Given the description of an element on the screen output the (x, y) to click on. 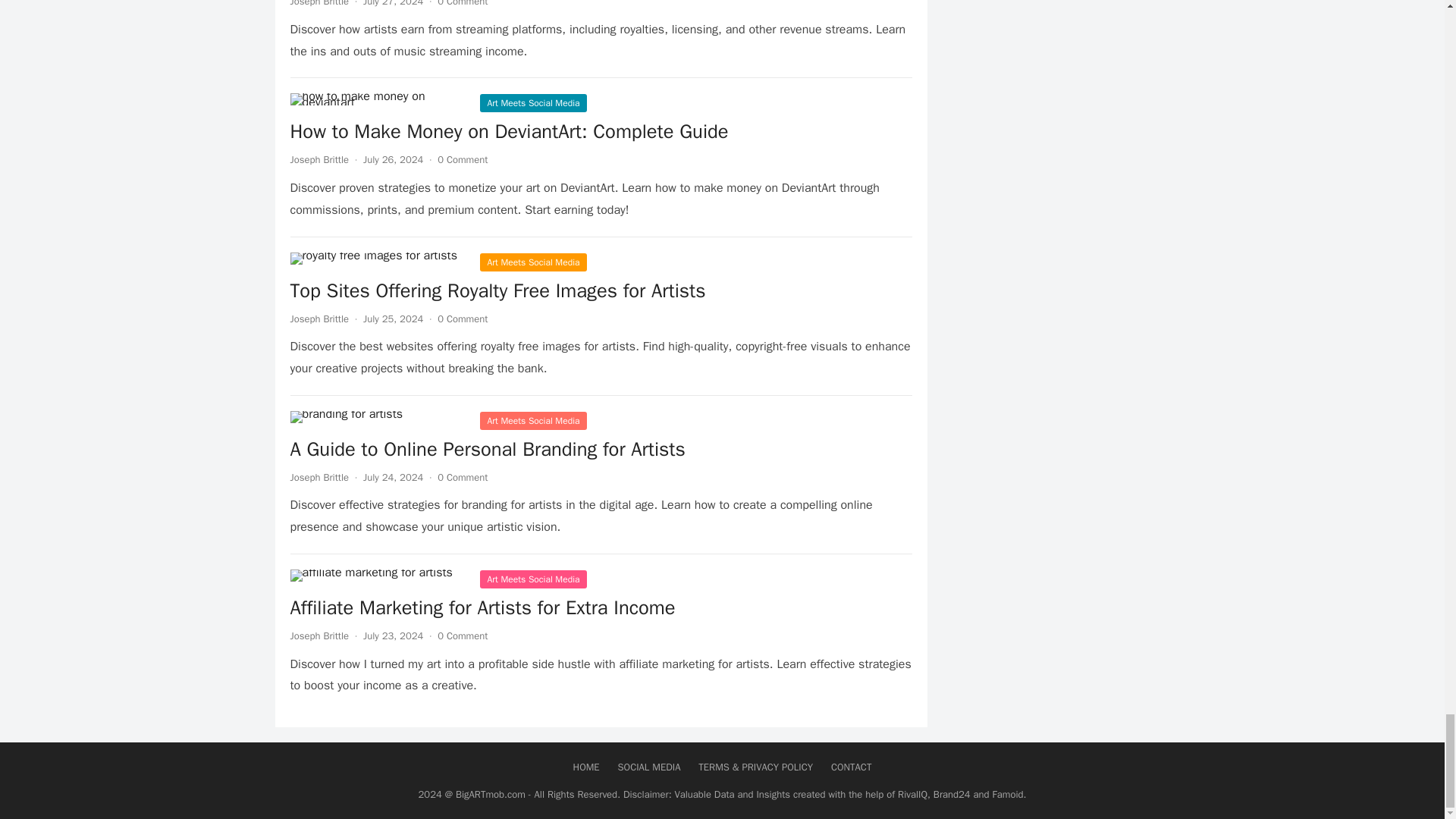
Posts by Joseph Brittle (319, 3)
Posts by Joseph Brittle (319, 159)
Posts by Joseph Brittle (319, 477)
Posts by Joseph Brittle (319, 318)
